Given the description of an element on the screen output the (x, y) to click on. 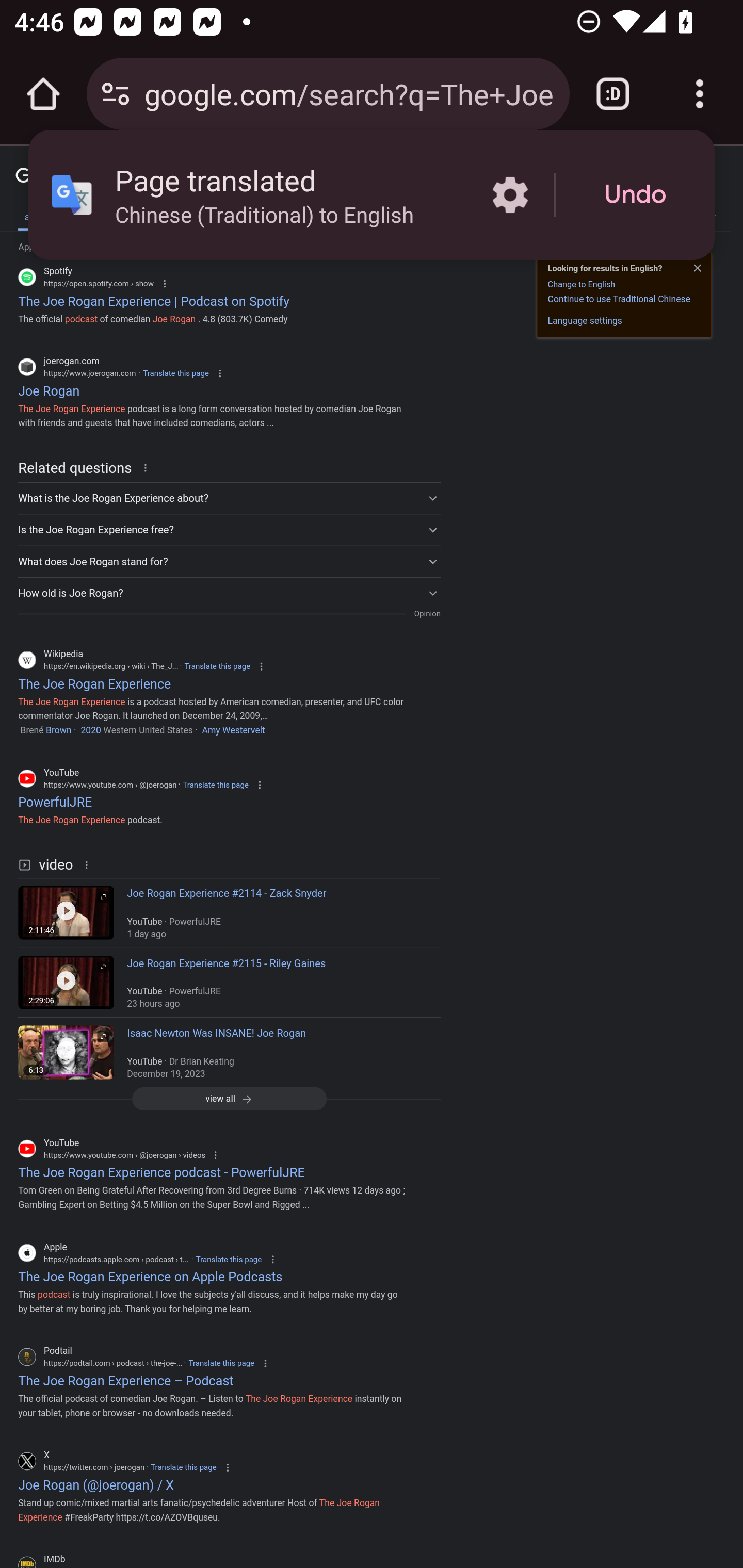
Open the home page (43, 93)
Connection is secure (115, 93)
Switch or close tabs (612, 93)
Customize and control Google Chrome (699, 93)
Undo (634, 195)
More options in the Page translated (509, 195)
